Given the description of an element on the screen output the (x, y) to click on. 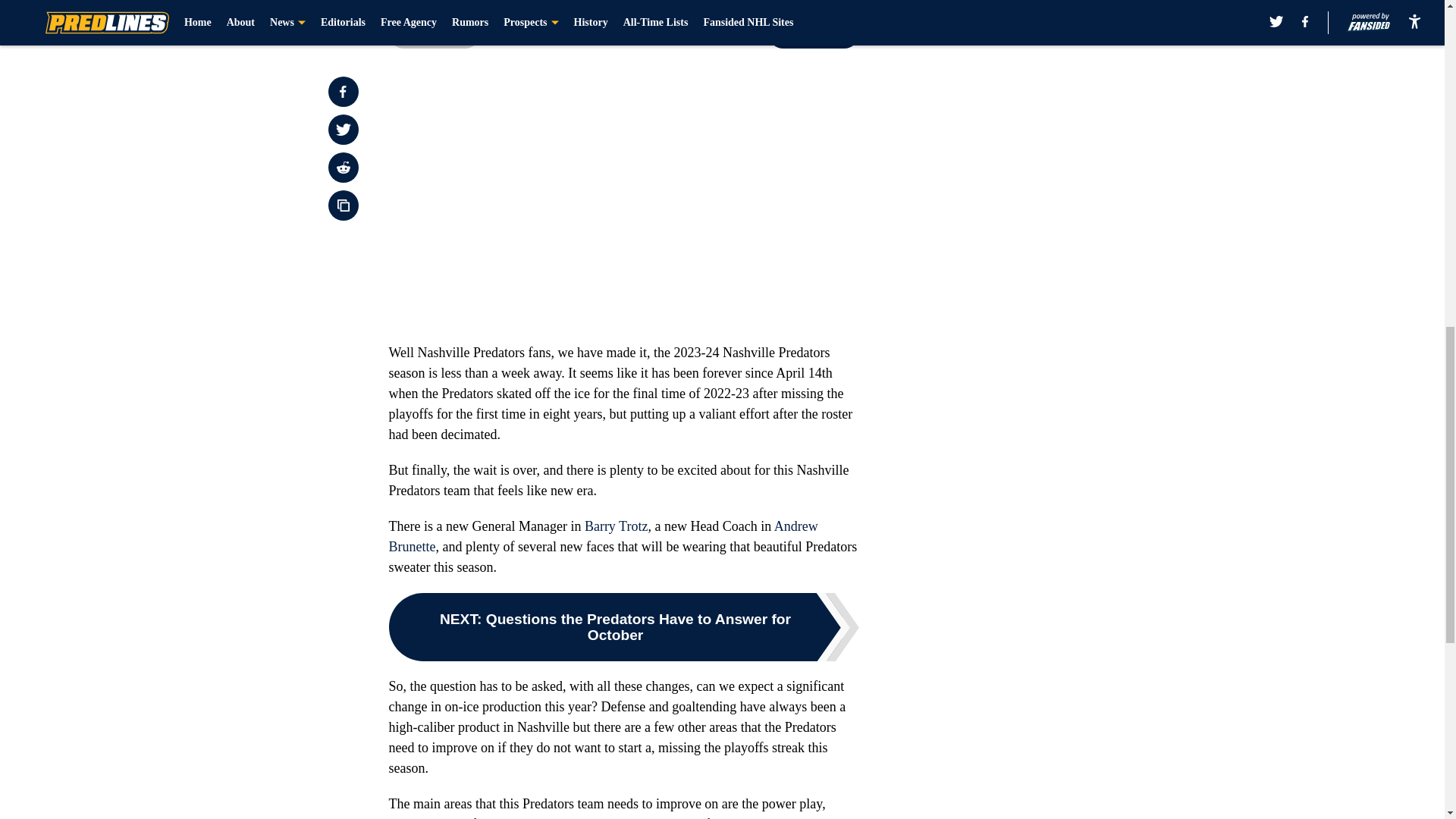
Next (813, 33)
Prev (433, 33)
NEXT: Questions the Predators Have to Answer for October (623, 626)
Andrew Brunette (602, 536)
Barry Trotz (616, 525)
